Given the description of an element on the screen output the (x, y) to click on. 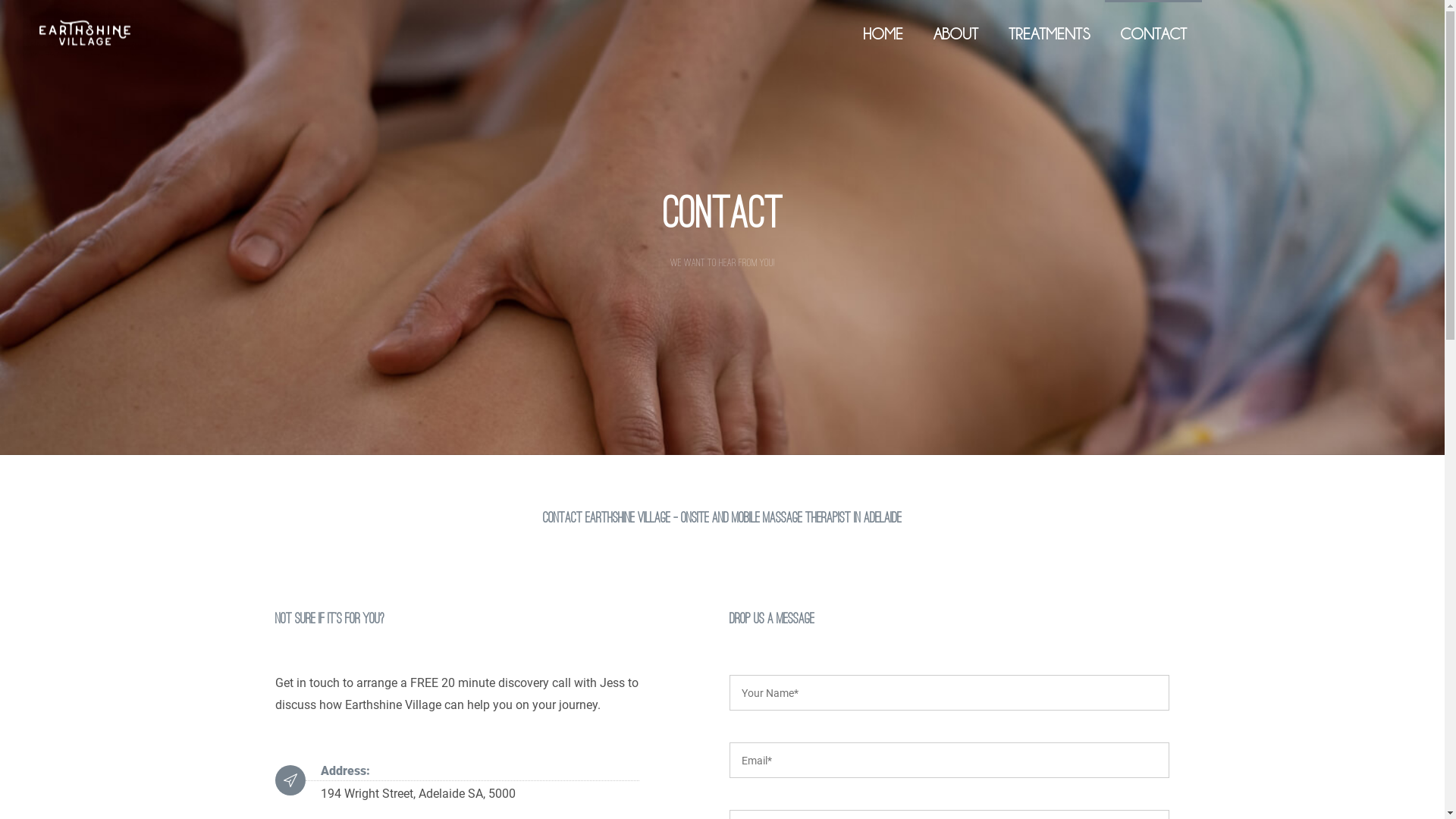
CONTACT Element type: text (1152, 34)
ABOUT Element type: text (955, 34)
HOME Element type: text (882, 34)
TREATMENTS Element type: text (1048, 34)
